Given the description of an element on the screen output the (x, y) to click on. 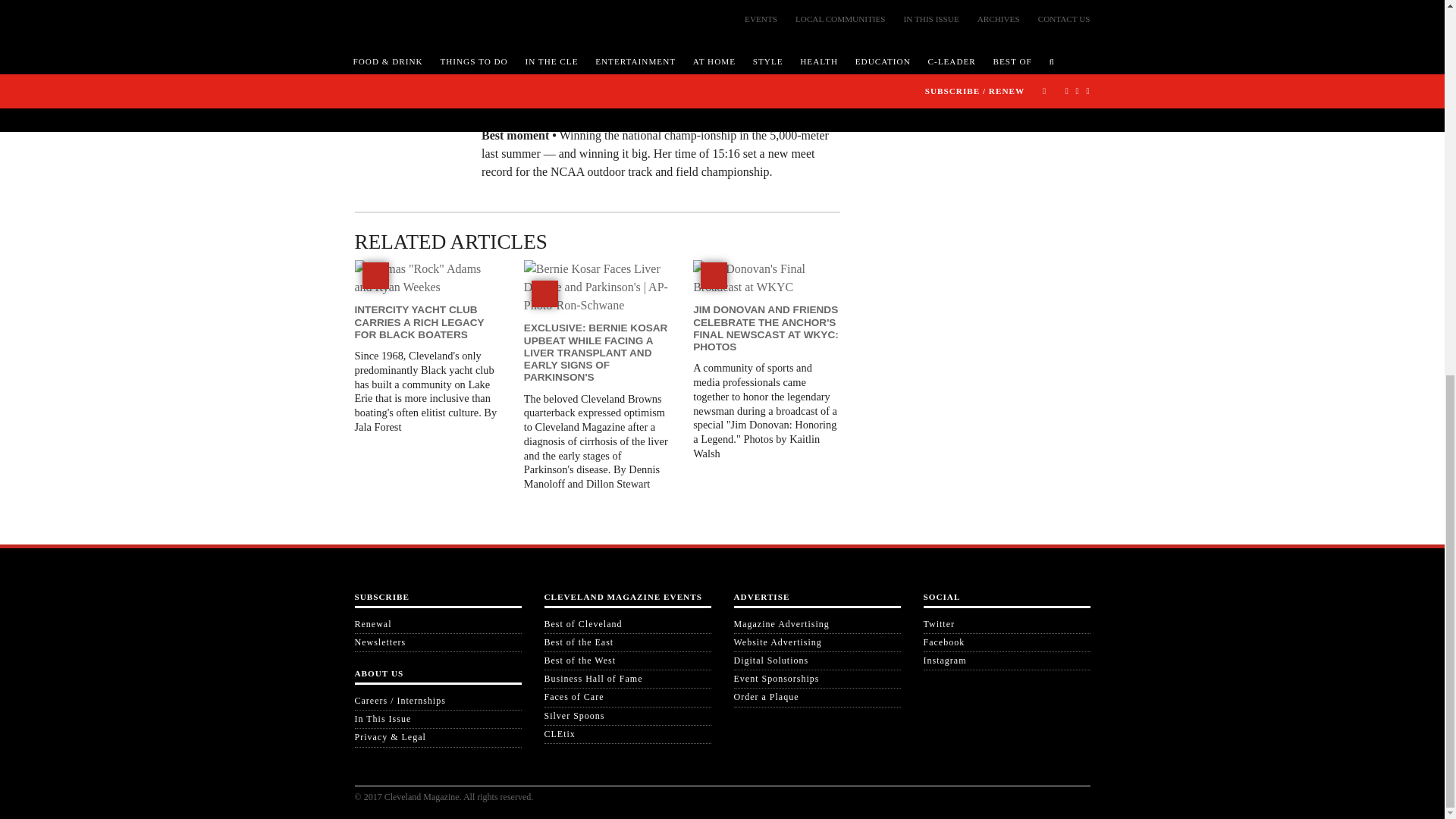
Thomas "Rock" Adams and Ryan Weekes (427, 278)
Jim Donovan's Final Broadcast at WKYC (766, 278)
